Given the description of an element on the screen output the (x, y) to click on. 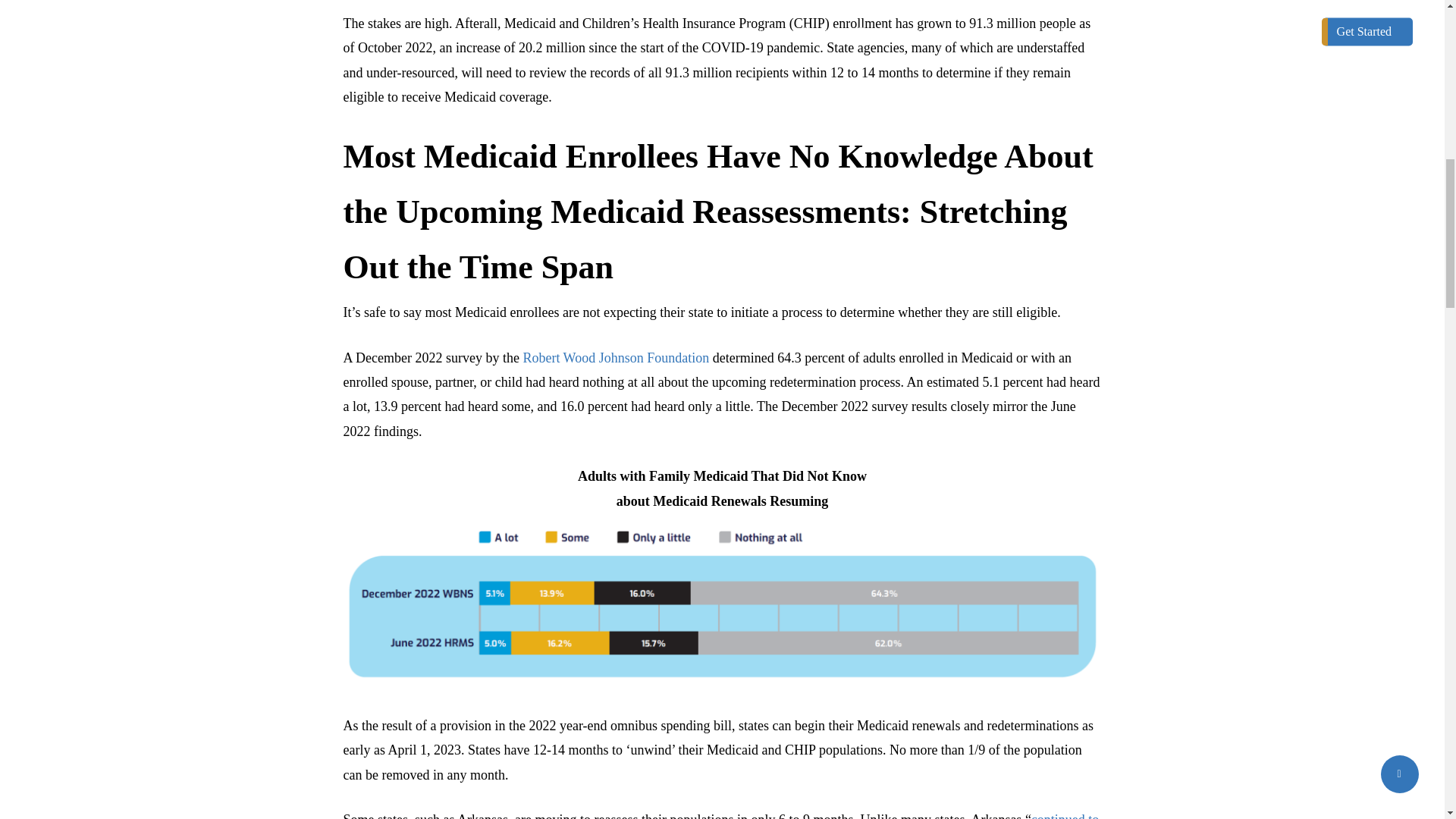
Robert Wood Johnson Foundation (615, 357)
